Given the description of an element on the screen output the (x, y) to click on. 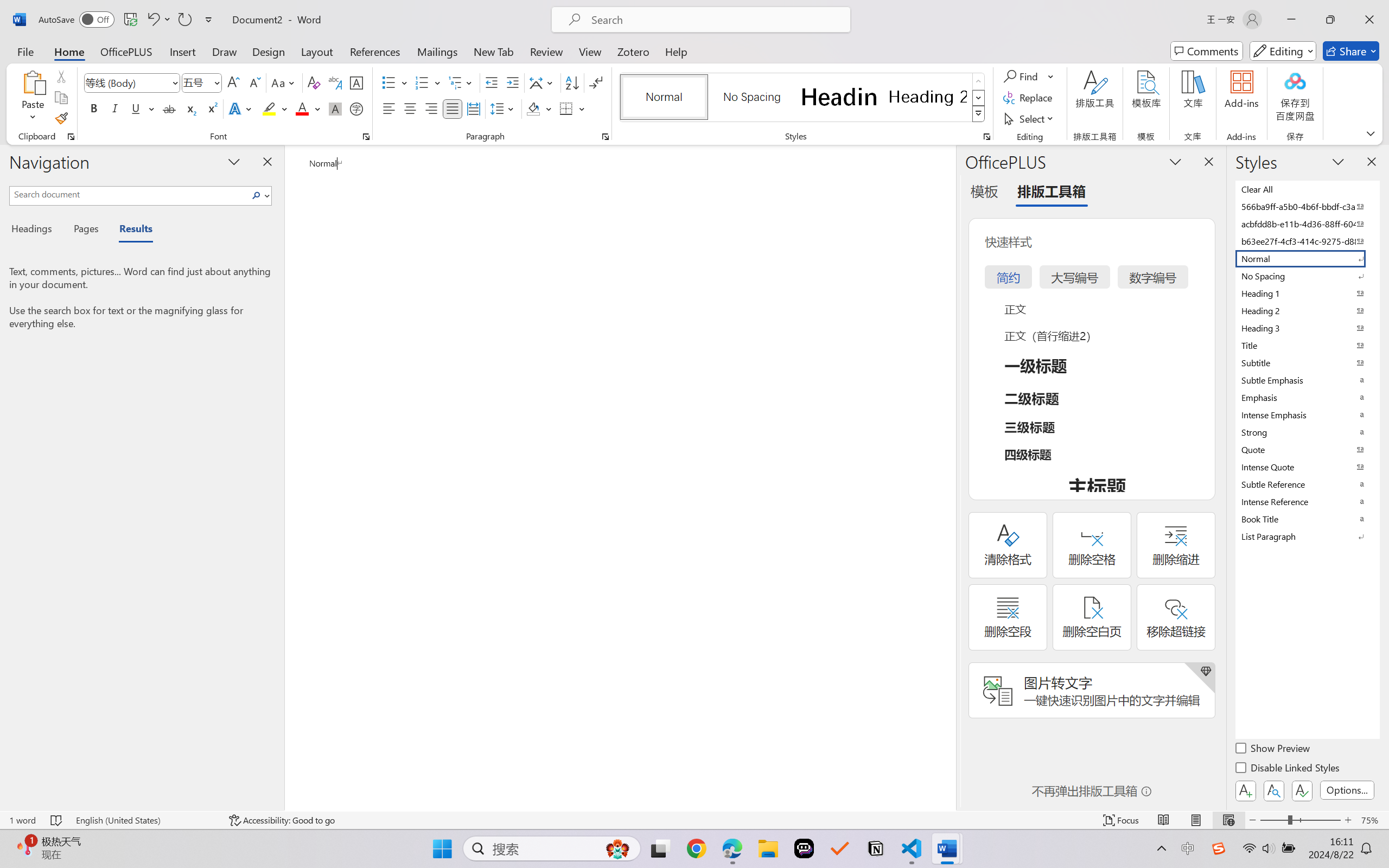
References (375, 51)
acbfdd8b-e11b-4d36-88ff-6049b138f862 (1306, 223)
Language English (United States) (144, 819)
File Tab (24, 51)
Row up (978, 81)
Undo Apply Quick Style (158, 19)
Ribbon Display Options (1370, 132)
OfficePLUS (126, 51)
Bold (94, 108)
Show/Hide Editing Marks (595, 82)
Sort... (571, 82)
